Given the description of an element on the screen output the (x, y) to click on. 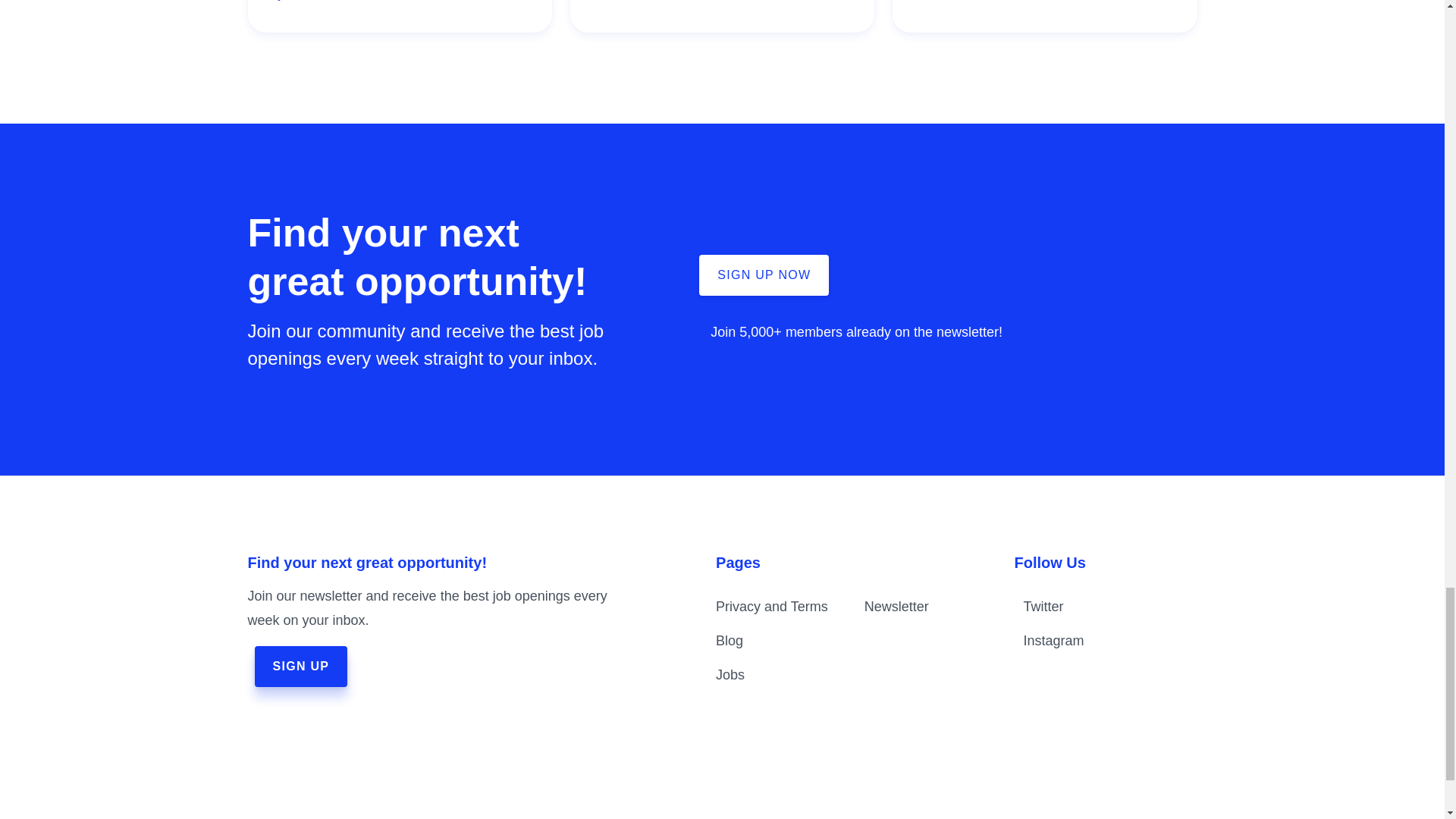
Instagram (1086, 640)
Newsletter (896, 606)
Twitter (1086, 606)
Blog (729, 640)
SIGN UP (300, 666)
Privacy and Terms (772, 606)
Jobs (730, 674)
SIGN UP NOW (763, 274)
